Given the description of an element on the screen output the (x, y) to click on. 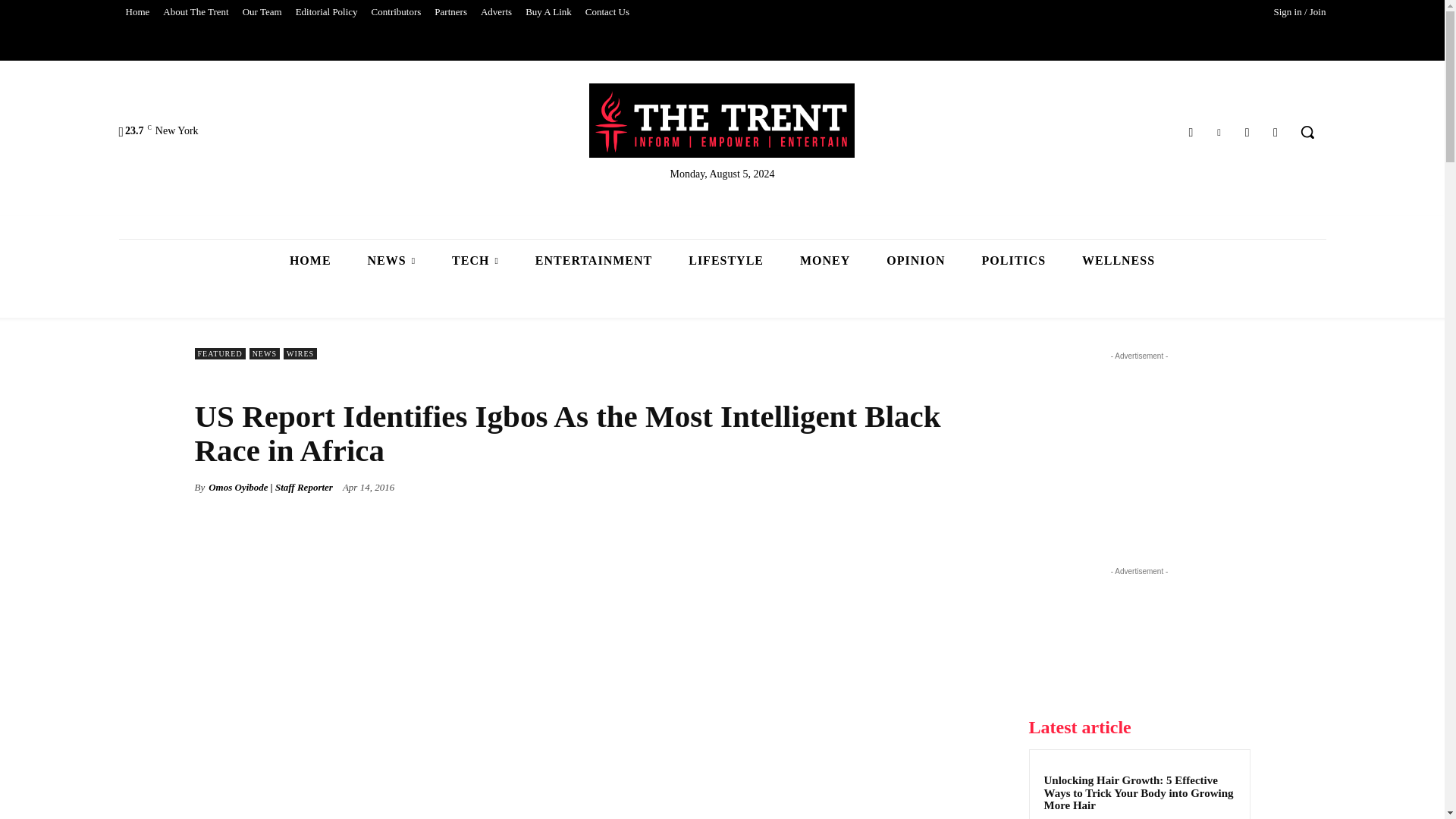
Rss (1275, 132)
Facebook (1190, 132)
Twitter (1218, 132)
Instagram (1246, 132)
